Given the description of an element on the screen output the (x, y) to click on. 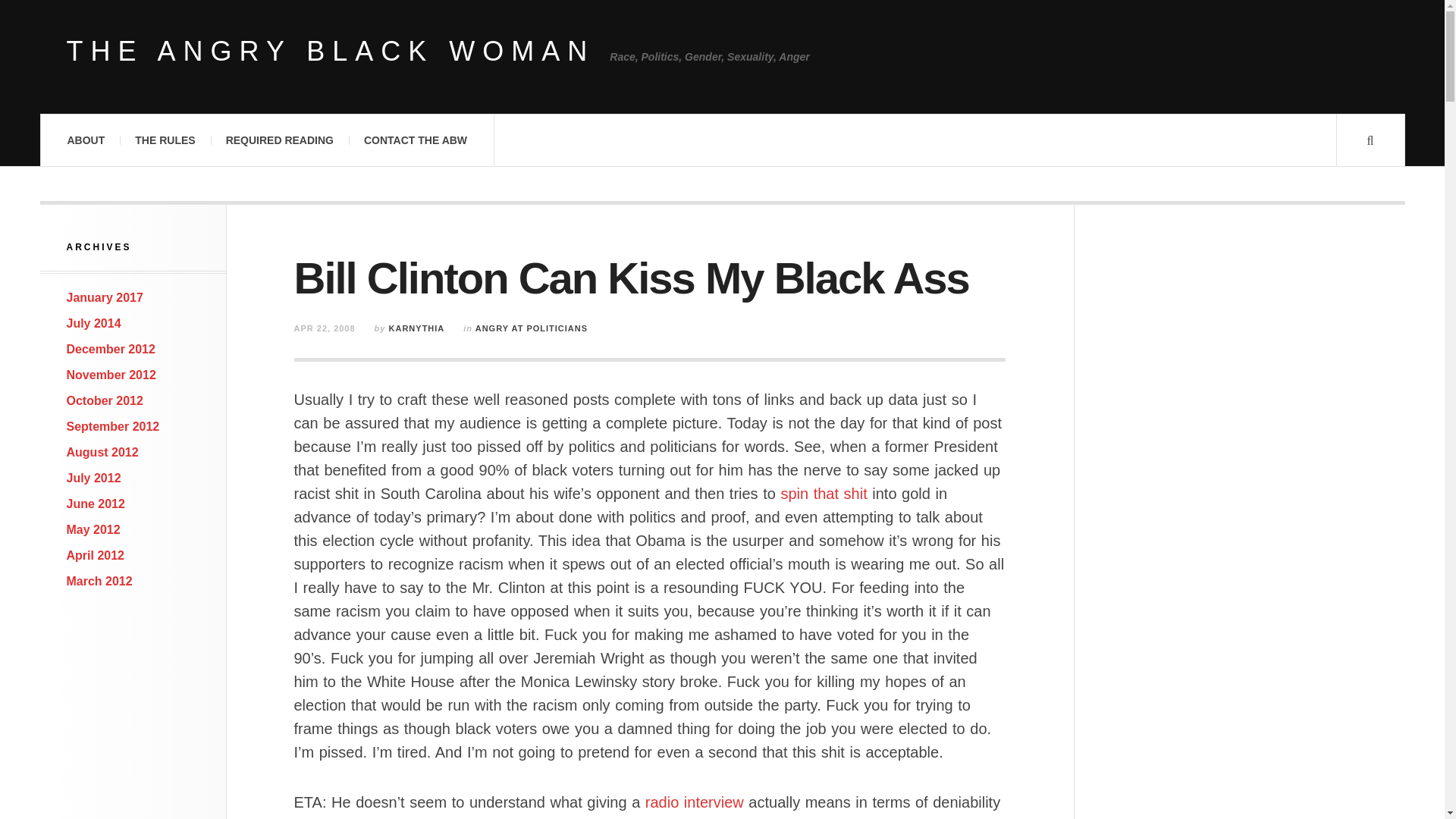
April 2012 (94, 554)
July 2014 (93, 323)
ABOUT (84, 140)
September 2012 (113, 426)
May 2012 (93, 529)
The Angry Black Woman (330, 51)
December 2012 (110, 349)
November 2012 (110, 374)
View all posts in Angry at Politicians (532, 327)
August 2012 (102, 451)
